Given the description of an element on the screen output the (x, y) to click on. 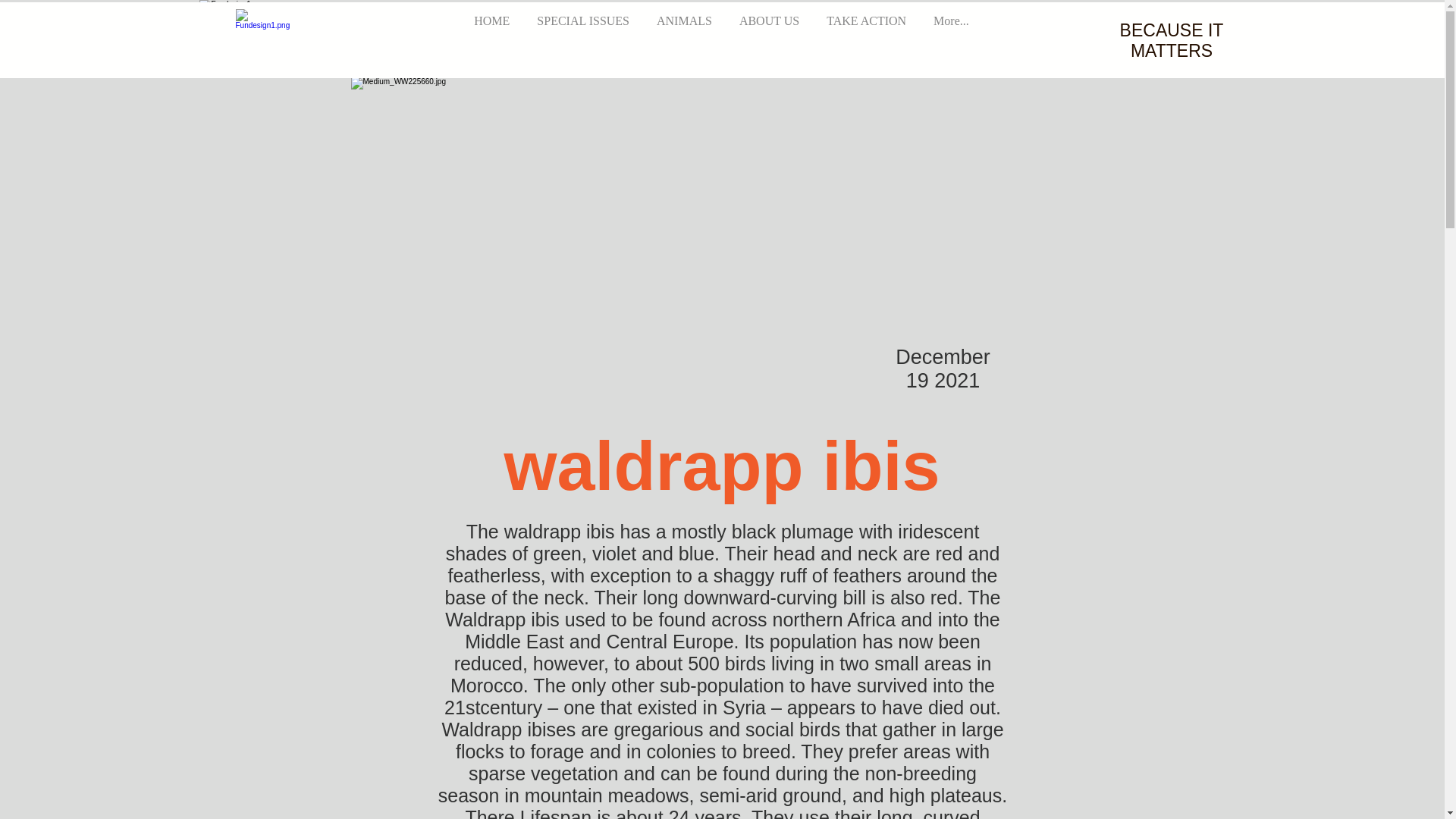
TAKE ACTION (866, 33)
ABOUT US (768, 33)
SPECIAL ISSUES (582, 33)
ANIMALS (684, 33)
HOME (491, 33)
